Given the description of an element on the screen output the (x, y) to click on. 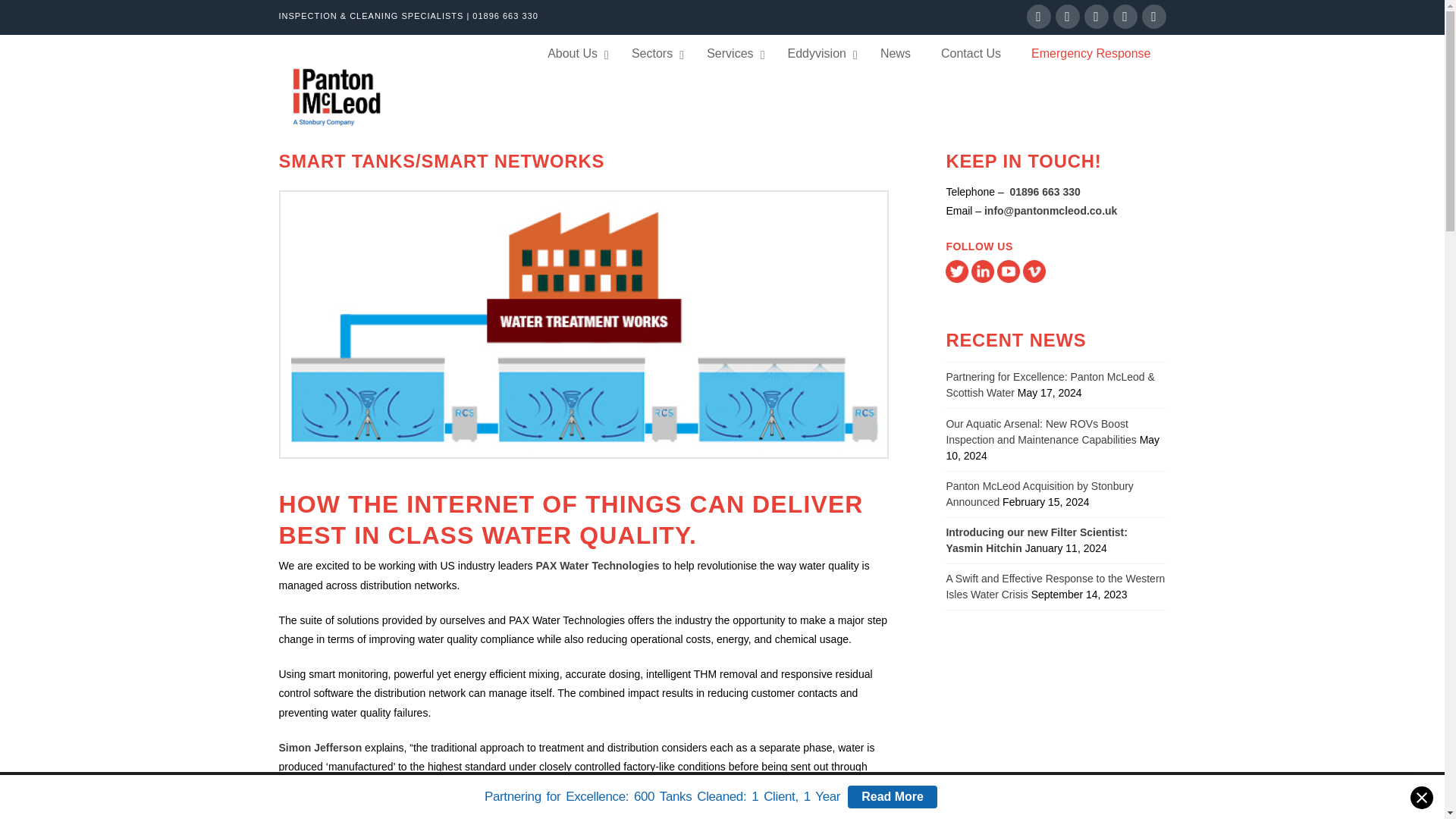
Facebook (1038, 16)
LinkedIn (1096, 16)
01896 663330 (1043, 191)
Services (731, 54)
About Us (573, 54)
Vimeo (1153, 16)
YouTube (1125, 16)
Sectors (653, 54)
Back to Top (1423, 797)
Twitter (1067, 16)
